Given the description of an element on the screen output the (x, y) to click on. 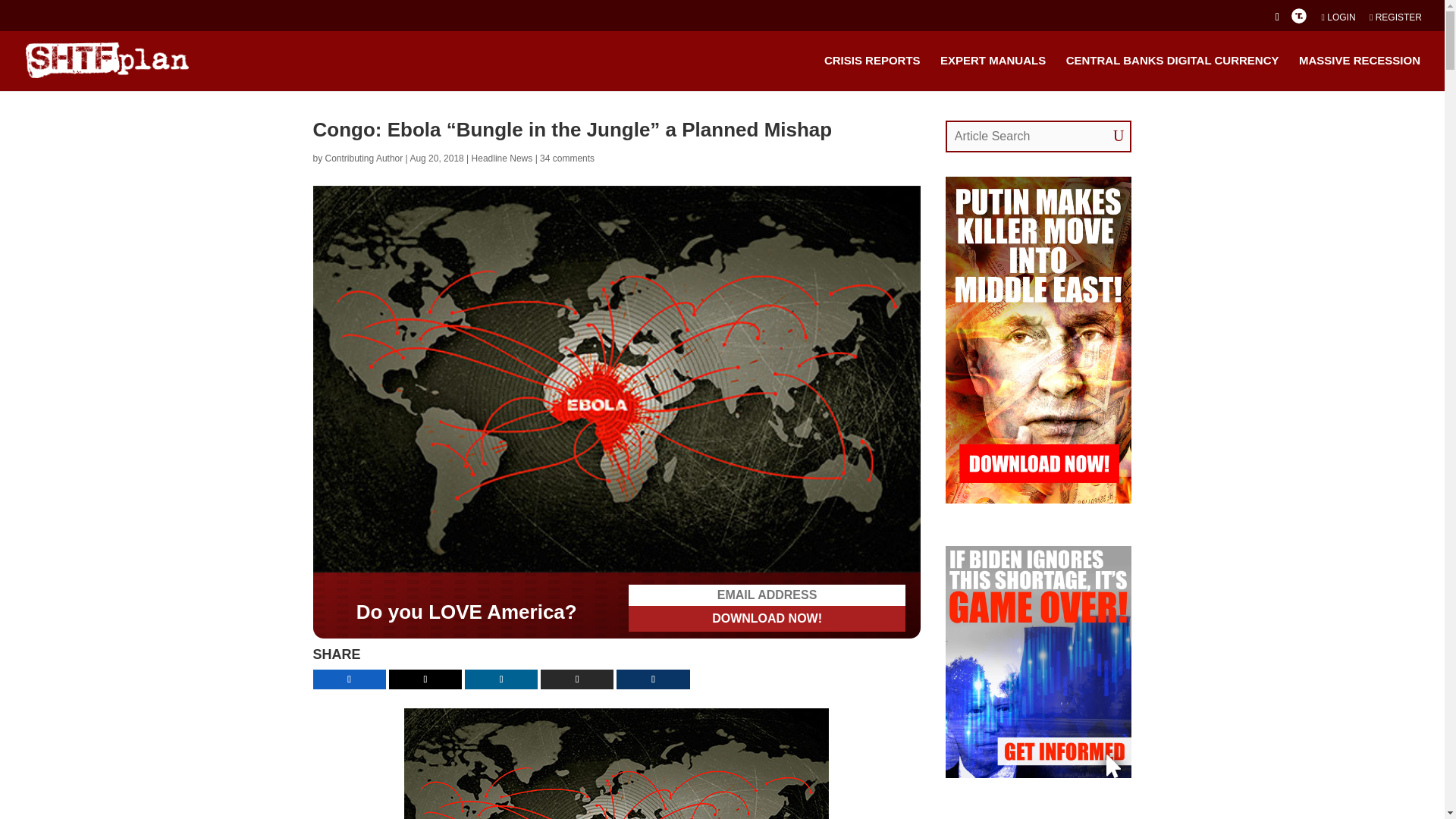
LOGIN (1337, 20)
CENTRAL BANKS DIGITAL CURRENCY (1172, 72)
Contributing Author (363, 158)
EXPERT MANUALS (992, 72)
REGISTER (1396, 20)
34 comments (567, 158)
Download Now! (766, 552)
MASSIVE RECESSION (1359, 72)
Download Now! (766, 552)
CRISIS REPORTS (872, 72)
Headline News (501, 158)
Posts by Contributing Author (363, 158)
